Given the description of an element on the screen output the (x, y) to click on. 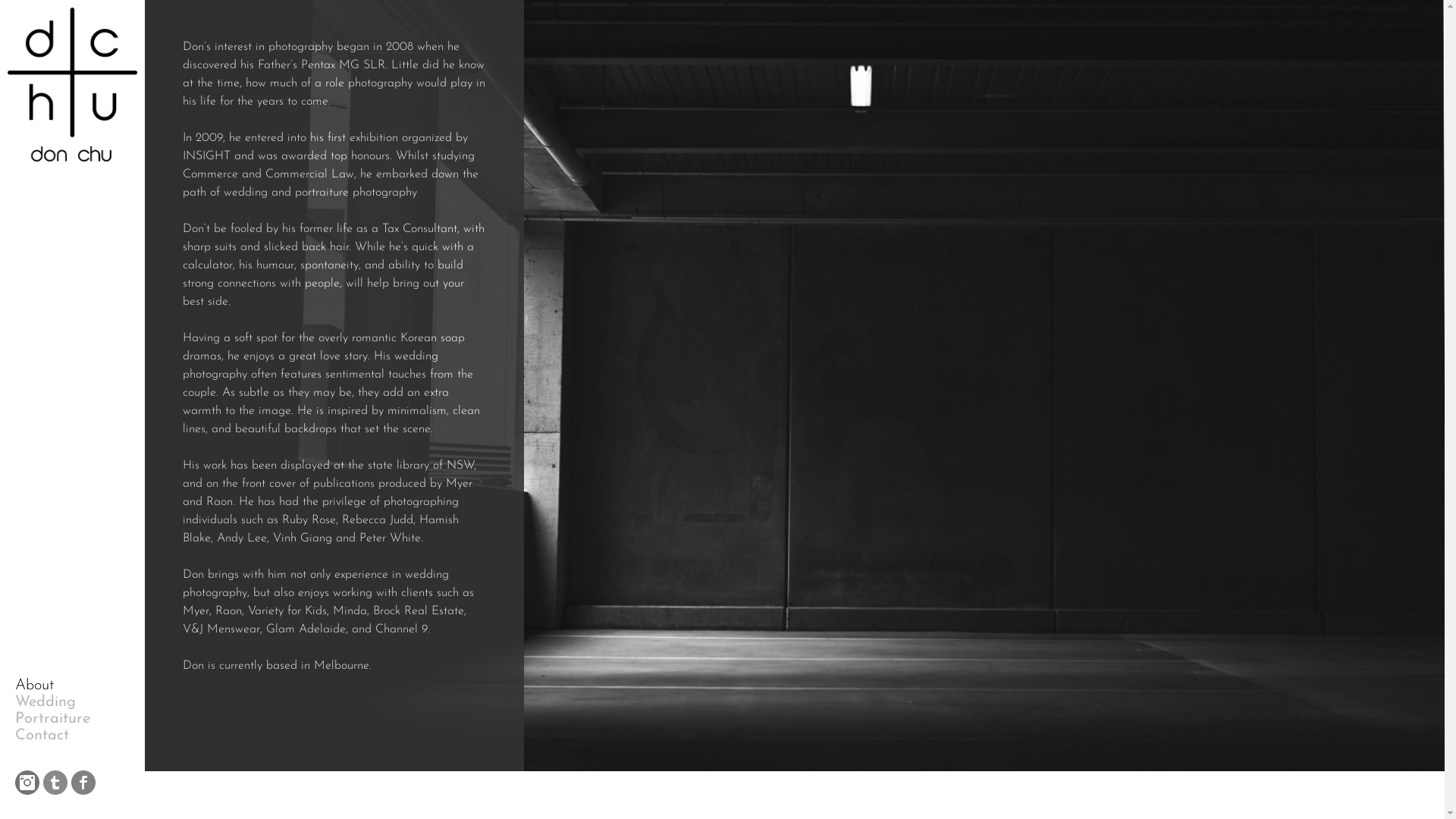
Skip to content Element type: text (0, 0)
About Element type: text (55, 685)
Portraiture Element type: text (55, 718)
Wedding Element type: text (55, 701)
Contact Element type: text (55, 735)
